Given the description of an element on the screen output the (x, y) to click on. 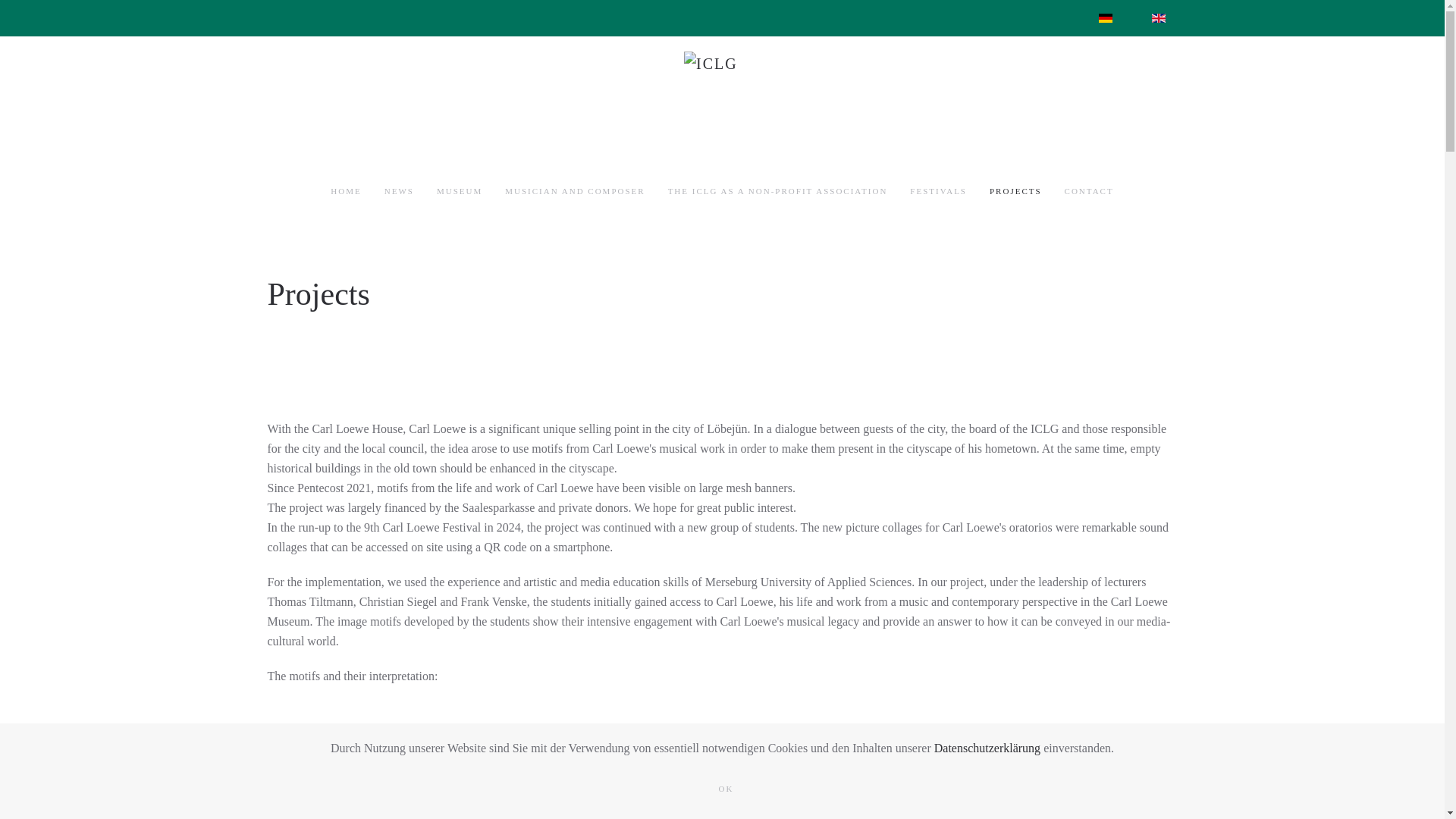
HOME (345, 191)
